Given the description of an element on the screen output the (x, y) to click on. 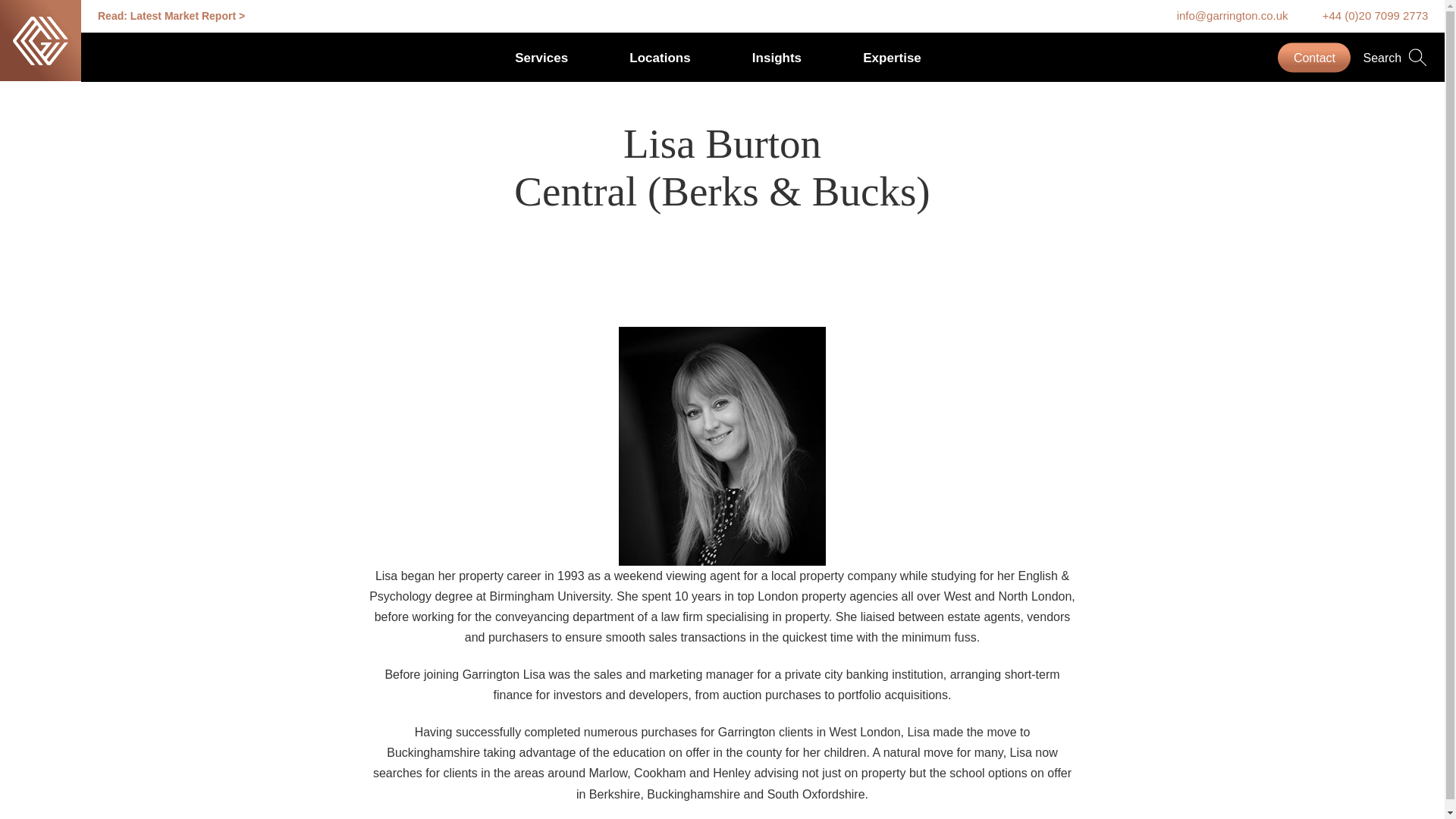
Locations (659, 57)
Services (541, 57)
